Given the description of an element on the screen output the (x, y) to click on. 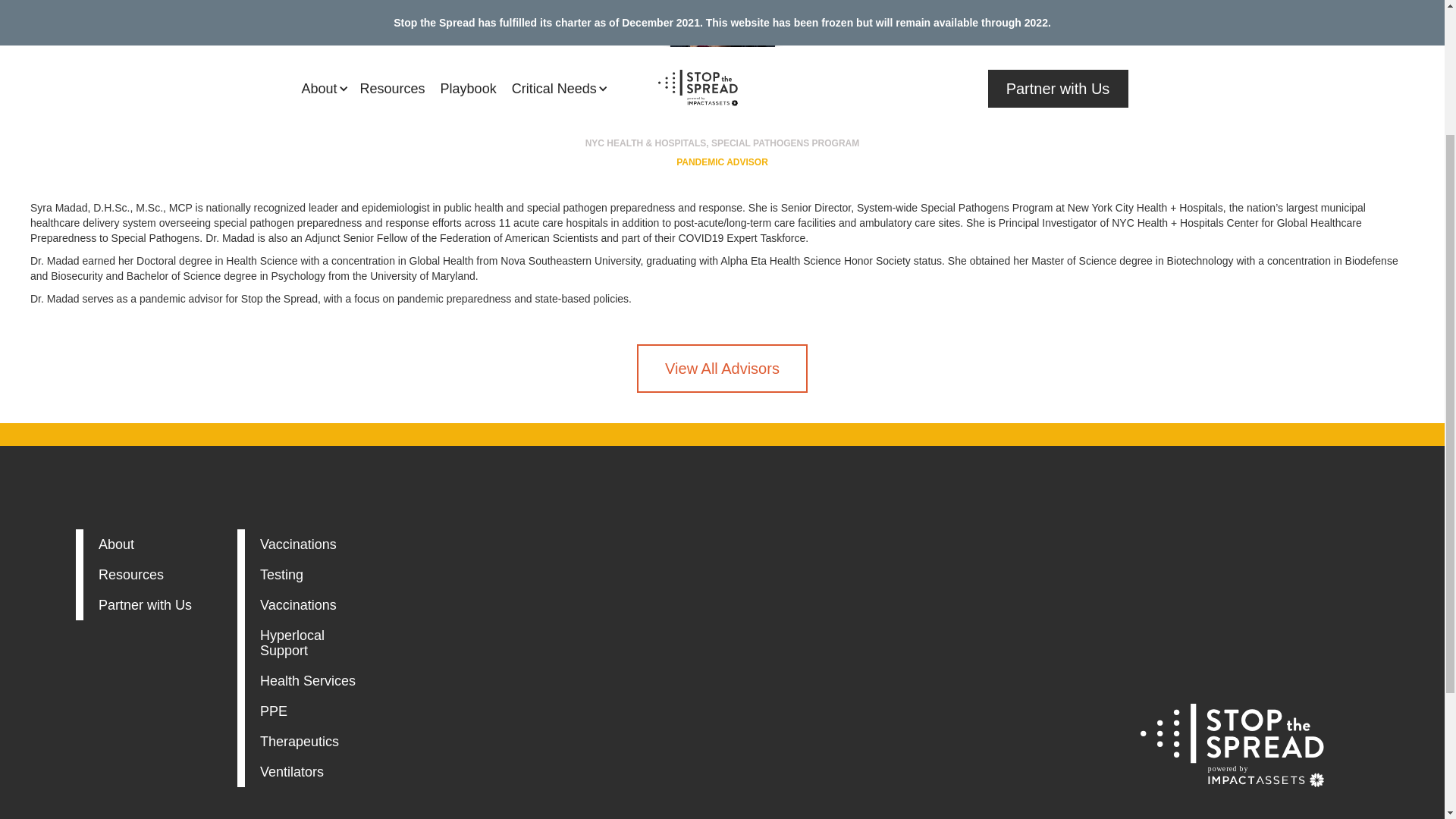
Vaccinations (307, 544)
Testing (307, 574)
PPE (307, 711)
Health Services (307, 680)
Vaccinations (307, 643)
Ventilators (307, 604)
Partner with Us (307, 771)
About (145, 604)
Therapeutics (145, 544)
View All Advisors (307, 741)
Resources (722, 368)
